Given the description of an element on the screen output the (x, y) to click on. 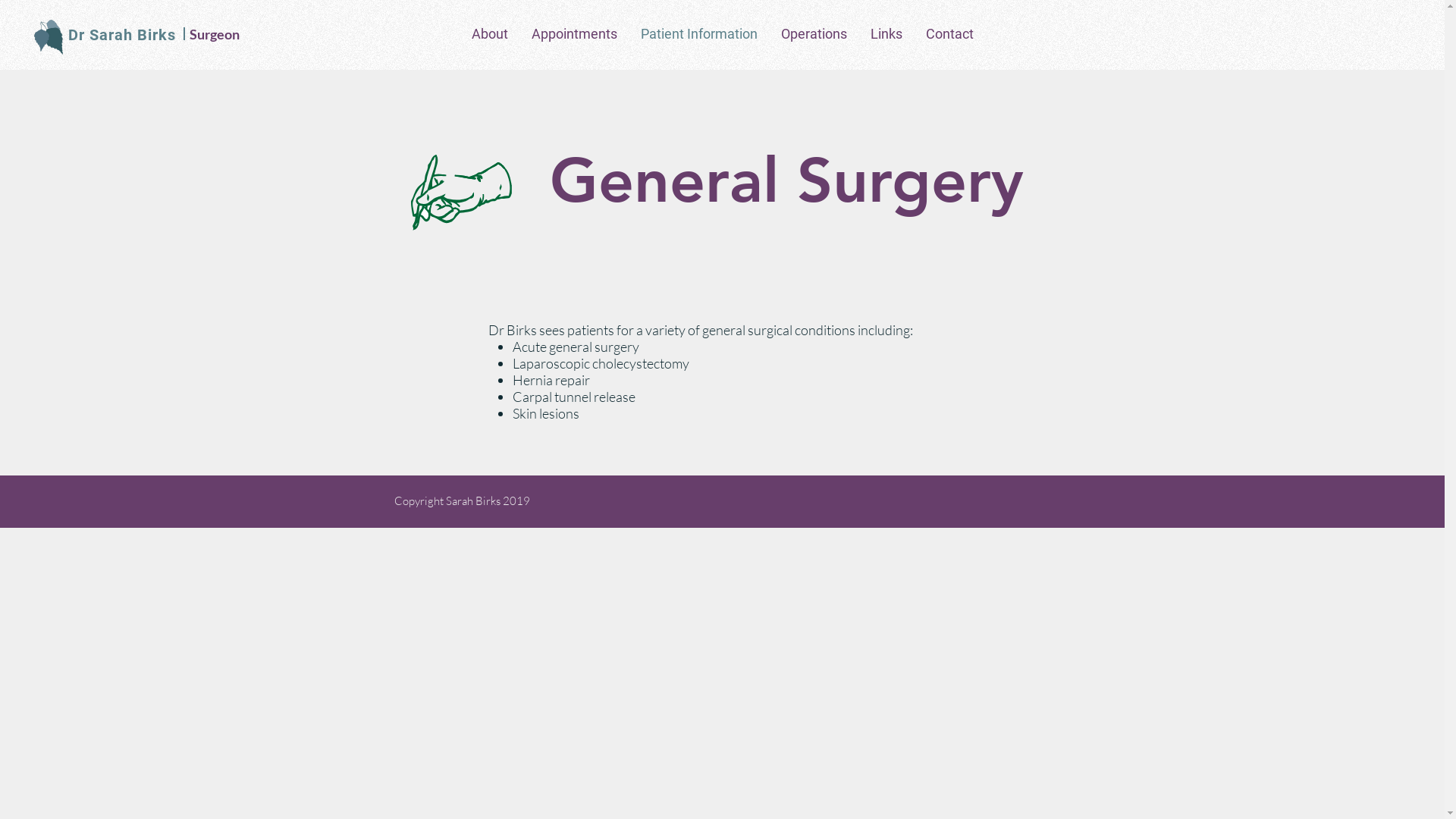
Links Element type: text (885, 34)
Surgeon Element type: text (214, 33)
Contact Element type: text (949, 34)
Dr Sarah Birks Element type: text (121, 34)
Patient Information Element type: text (699, 34)
About Element type: text (489, 34)
